Given the description of an element on the screen output the (x, y) to click on. 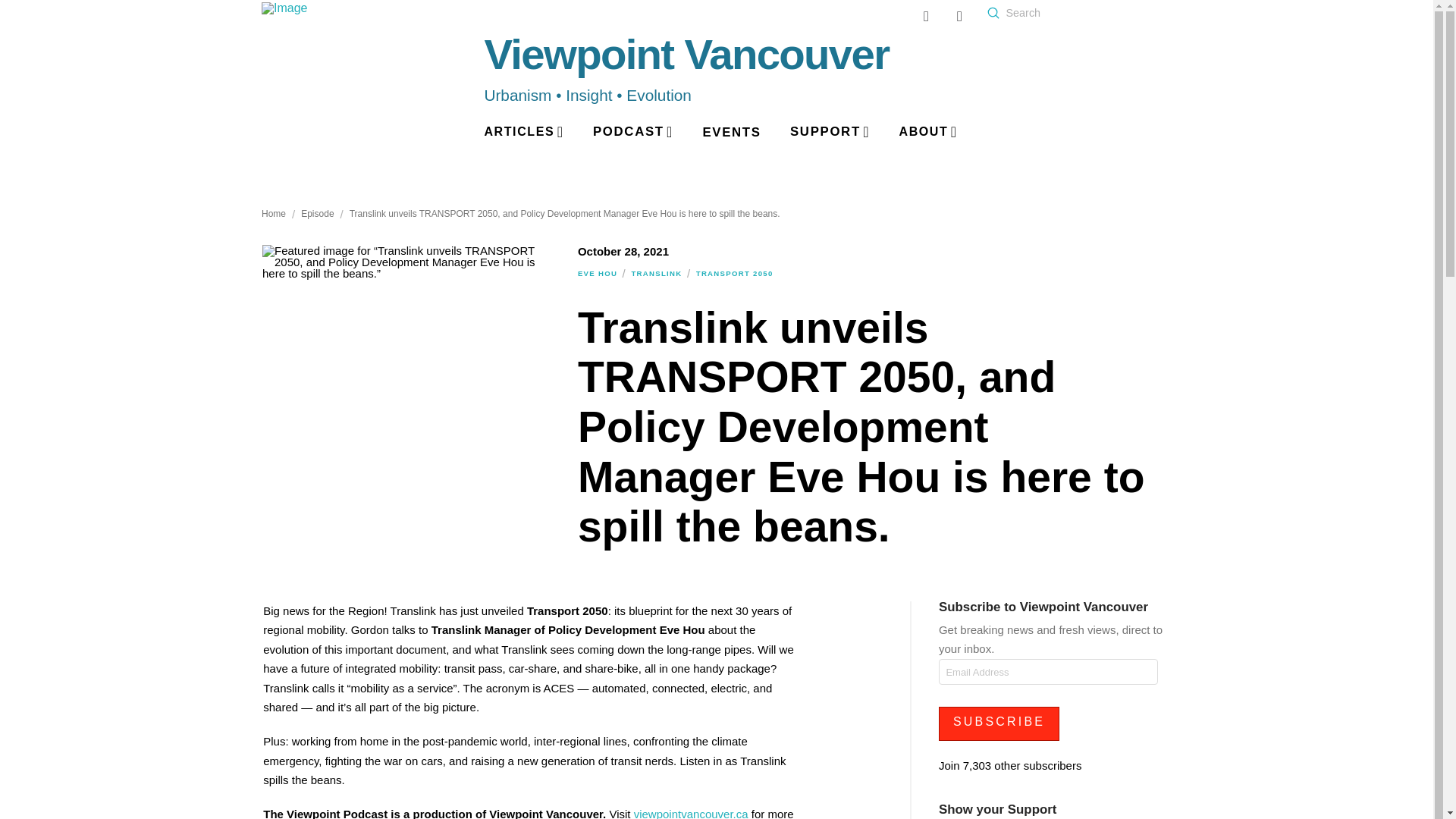
Episode (317, 214)
Home (273, 214)
Submit (992, 12)
You Are Here (564, 214)
viewpointvancouver.ca (690, 813)
TRANSPORT 2050 (734, 273)
TRANSLINK (655, 273)
EVENTS (730, 134)
EVE HOU (596, 273)
